Given the description of an element on the screen output the (x, y) to click on. 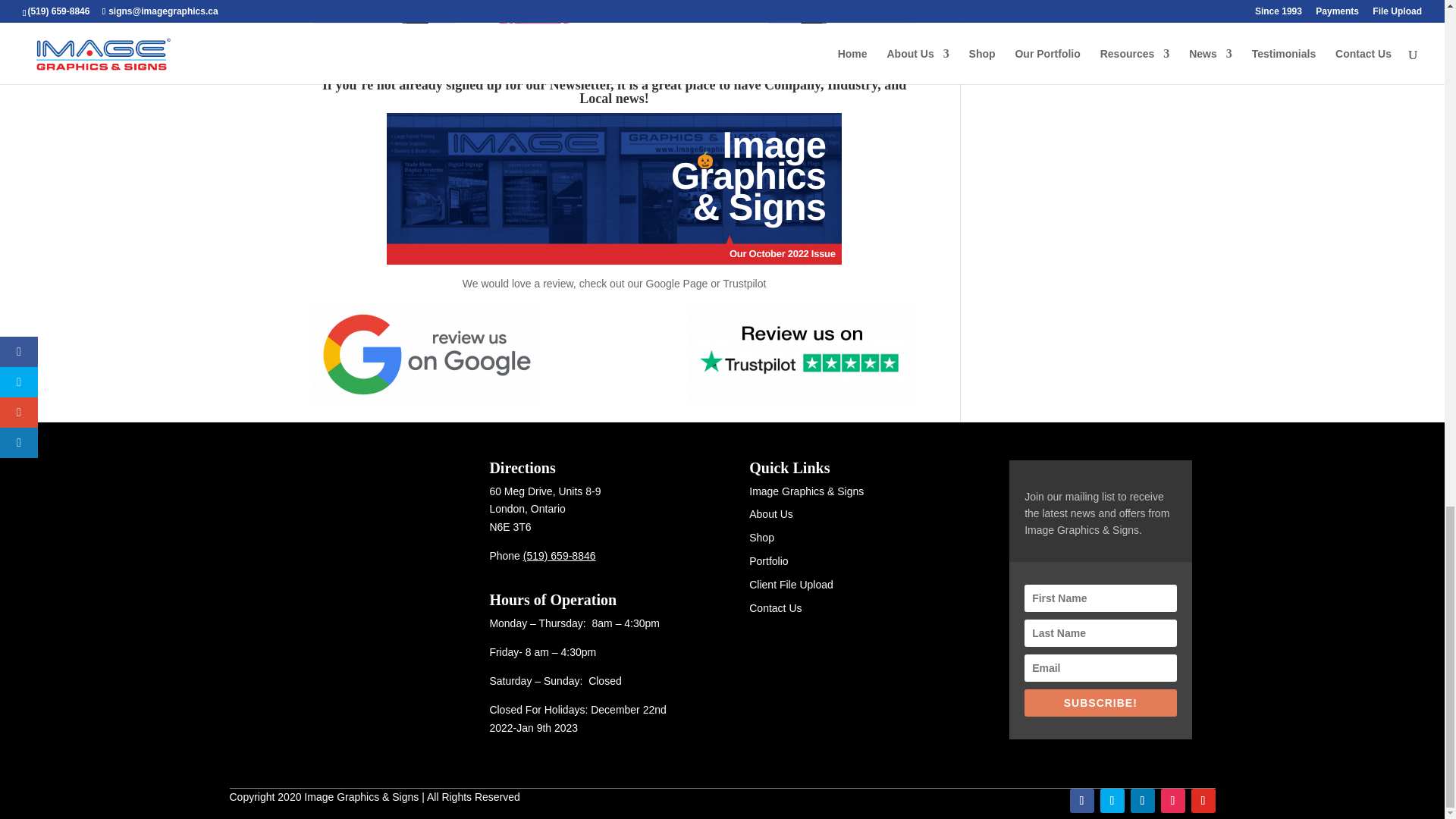
Follow on LinkedIn (1141, 800)
Follow on Facebook (1080, 800)
Follow on Twitter (1111, 800)
Follow on Youtube (1202, 800)
Follow on Instagram (1172, 800)
